Given the description of an element on the screen output the (x, y) to click on. 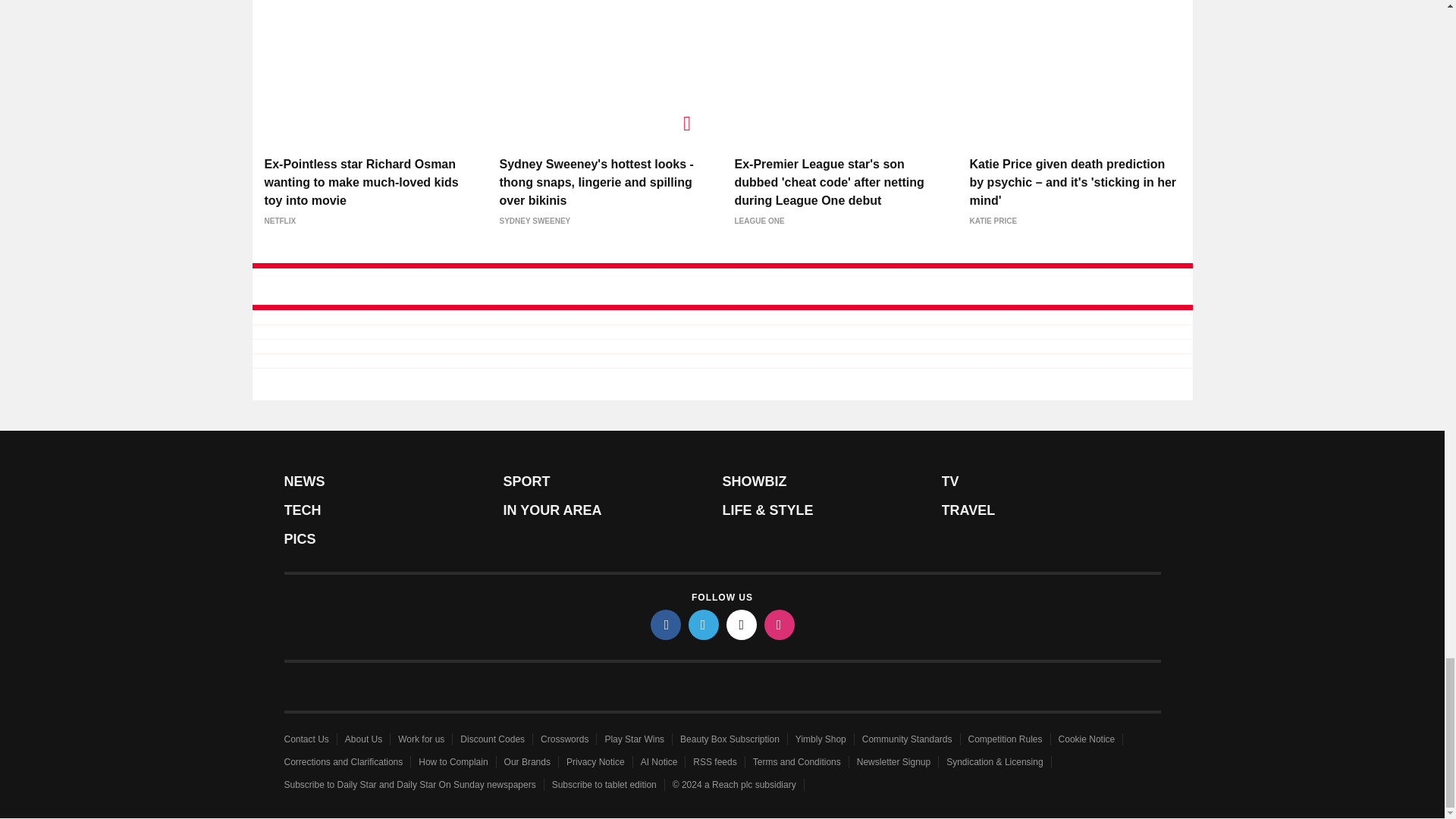
twitter (703, 624)
tiktok (741, 624)
facebook (665, 624)
instagram (779, 624)
